Given the description of an element on the screen output the (x, y) to click on. 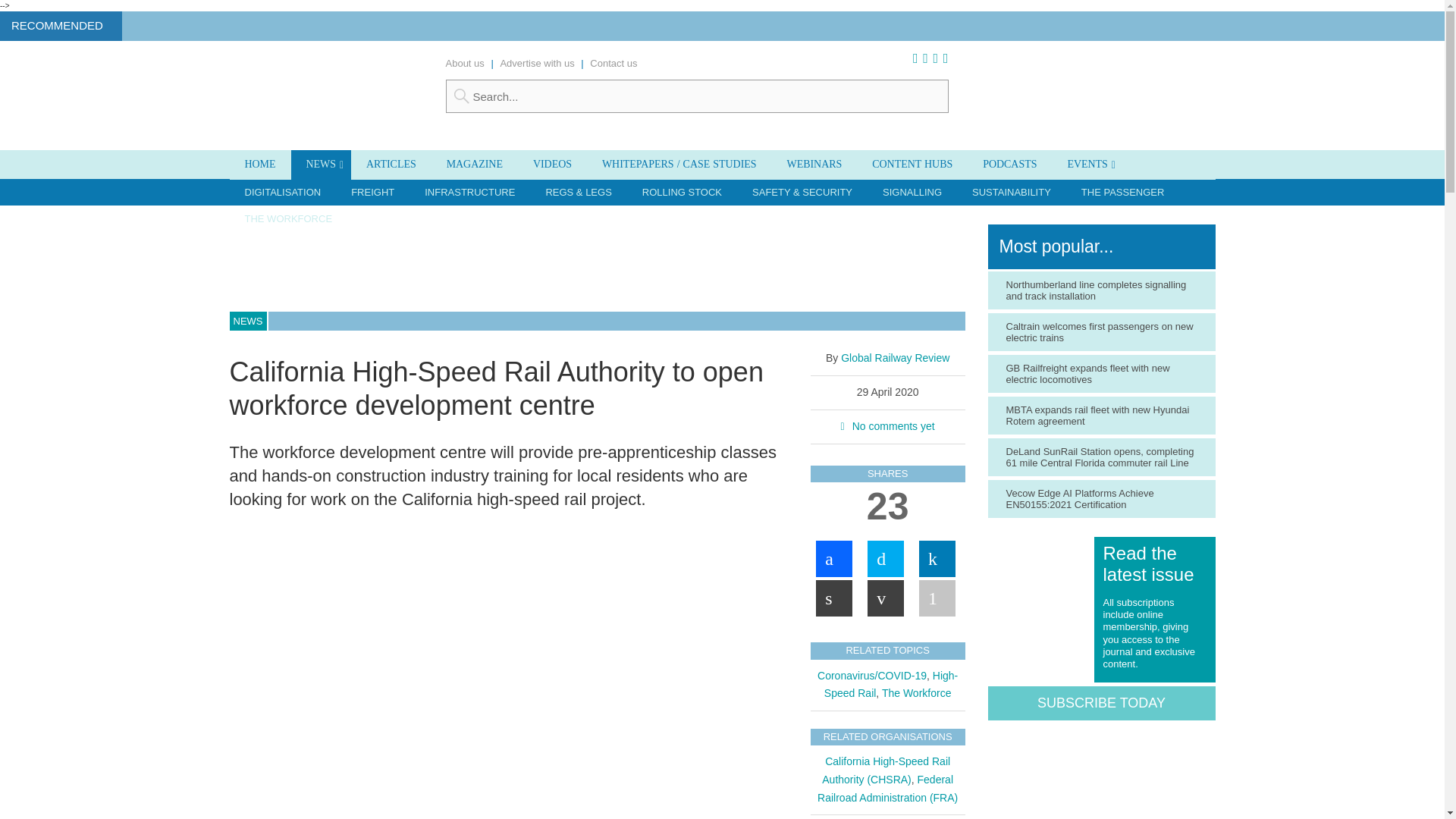
NEWS (320, 164)
HOME (258, 164)
About us (464, 62)
Search (697, 96)
Contact us (613, 62)
Advertise with us (536, 62)
